Given the description of an element on the screen output the (x, y) to click on. 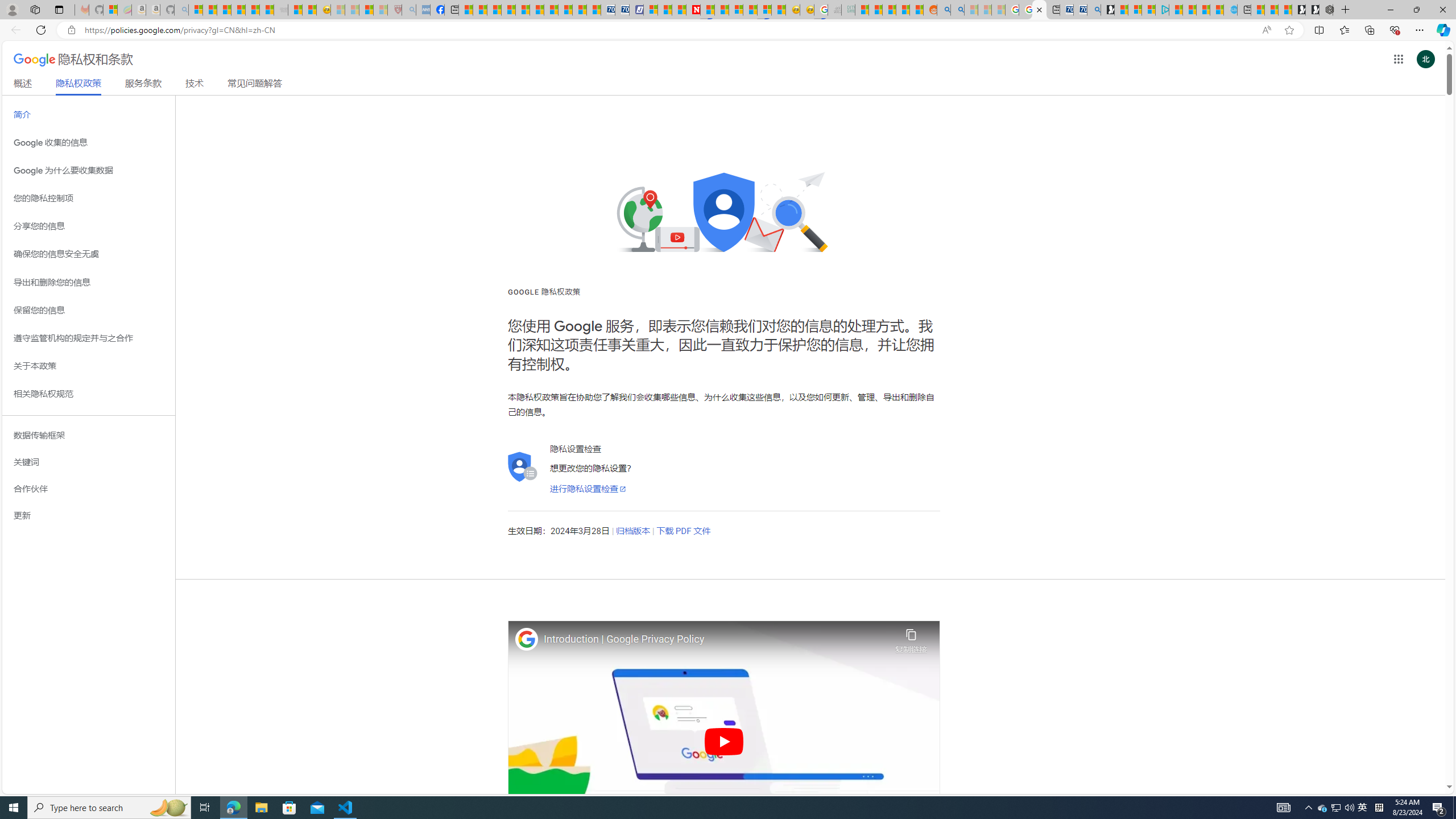
Introduction | Google Privacy Policy (716, 639)
Student Loan Update: Forgiveness Program Ends This Month (902, 9)
